Given the description of an element on the screen output the (x, y) to click on. 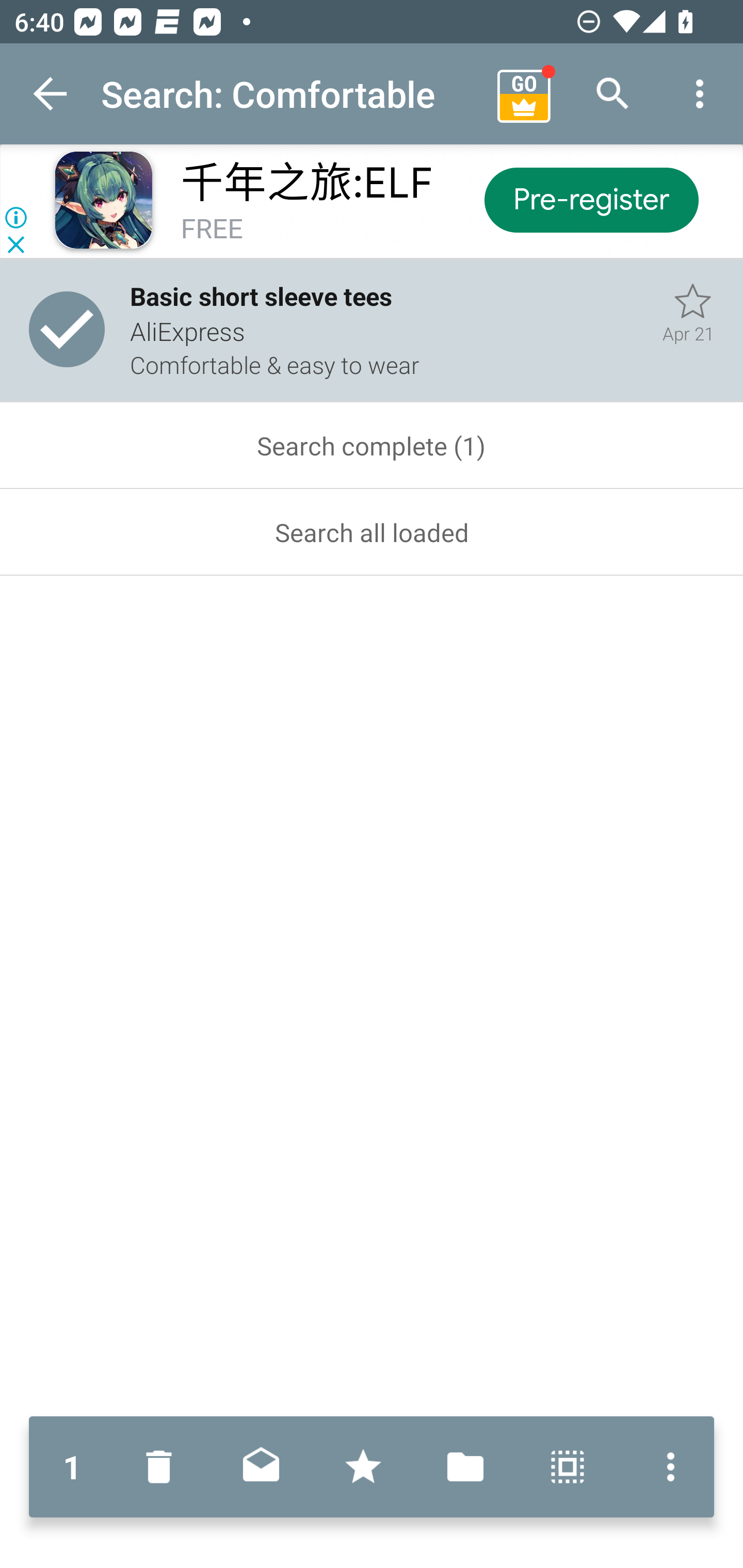
Navigate up (50, 93)
Search (612, 93)
More options (699, 93)
千年之旅:ELF (306, 183)
Pre-register (590, 199)
FREE (211, 230)
Search complete (1) (371, 445)
Search all loaded (371, 532)
1 1 message (71, 1466)
Move to Deleted (162, 1466)
Mark read (261, 1466)
Mark with stars (363, 1466)
Move to folder… (465, 1466)
Select all (567, 1466)
More options (666, 1466)
